Given the description of an element on the screen output the (x, y) to click on. 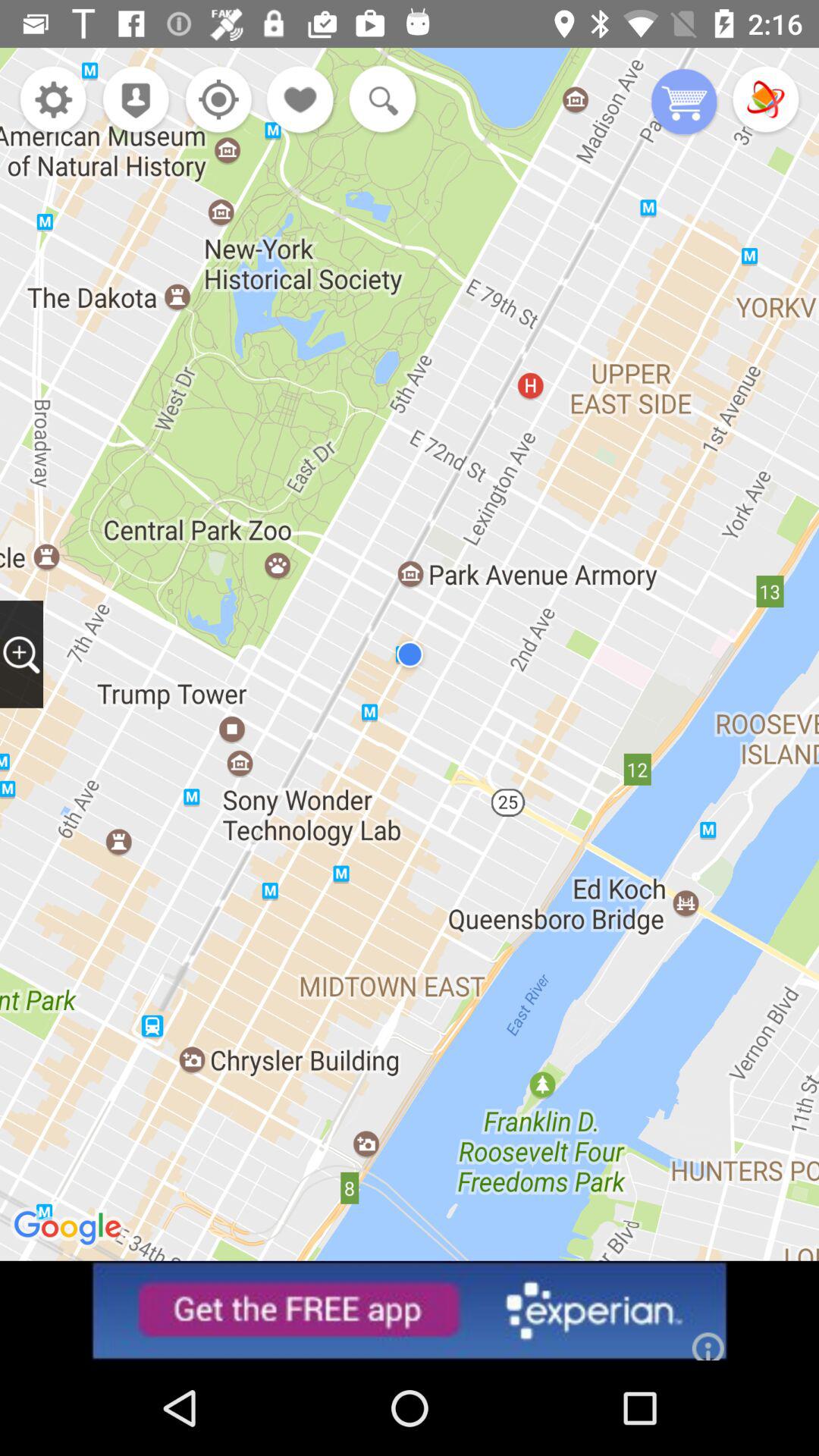
purchase (684, 102)
